Given the description of an element on the screen output the (x, y) to click on. 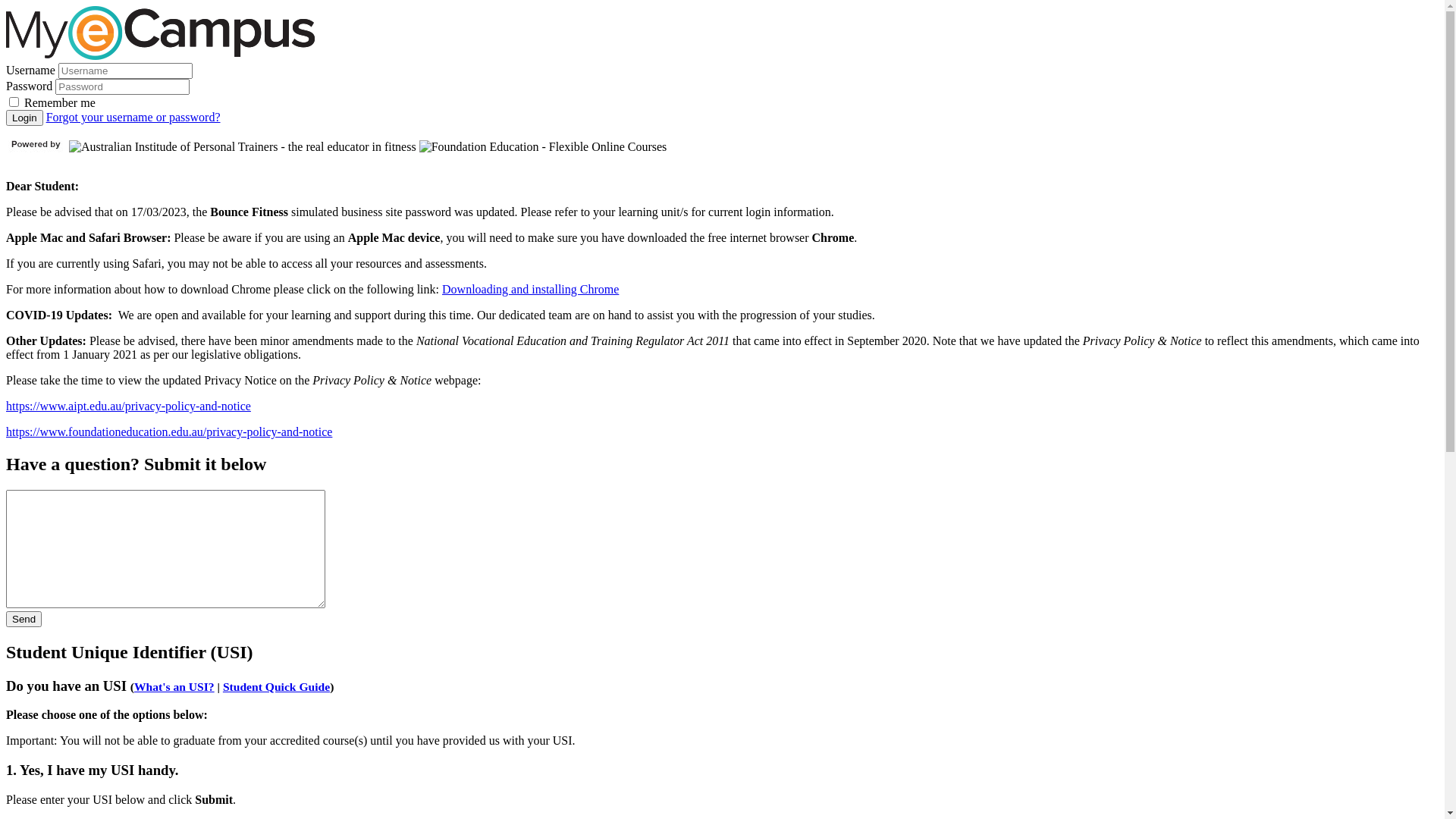
Forgot your username or password? Element type: text (133, 116)
Student Quick Guide Element type: text (275, 686)
Downloading and installing Chrome Element type: text (530, 288)
What's an USI? Element type: text (174, 686)
https://www.aipt.edu.au/privacy-policy-and-notice Element type: text (128, 405)
Login Element type: text (24, 117)
Send Element type: text (23, 619)
